Given the description of an element on the screen output the (x, y) to click on. 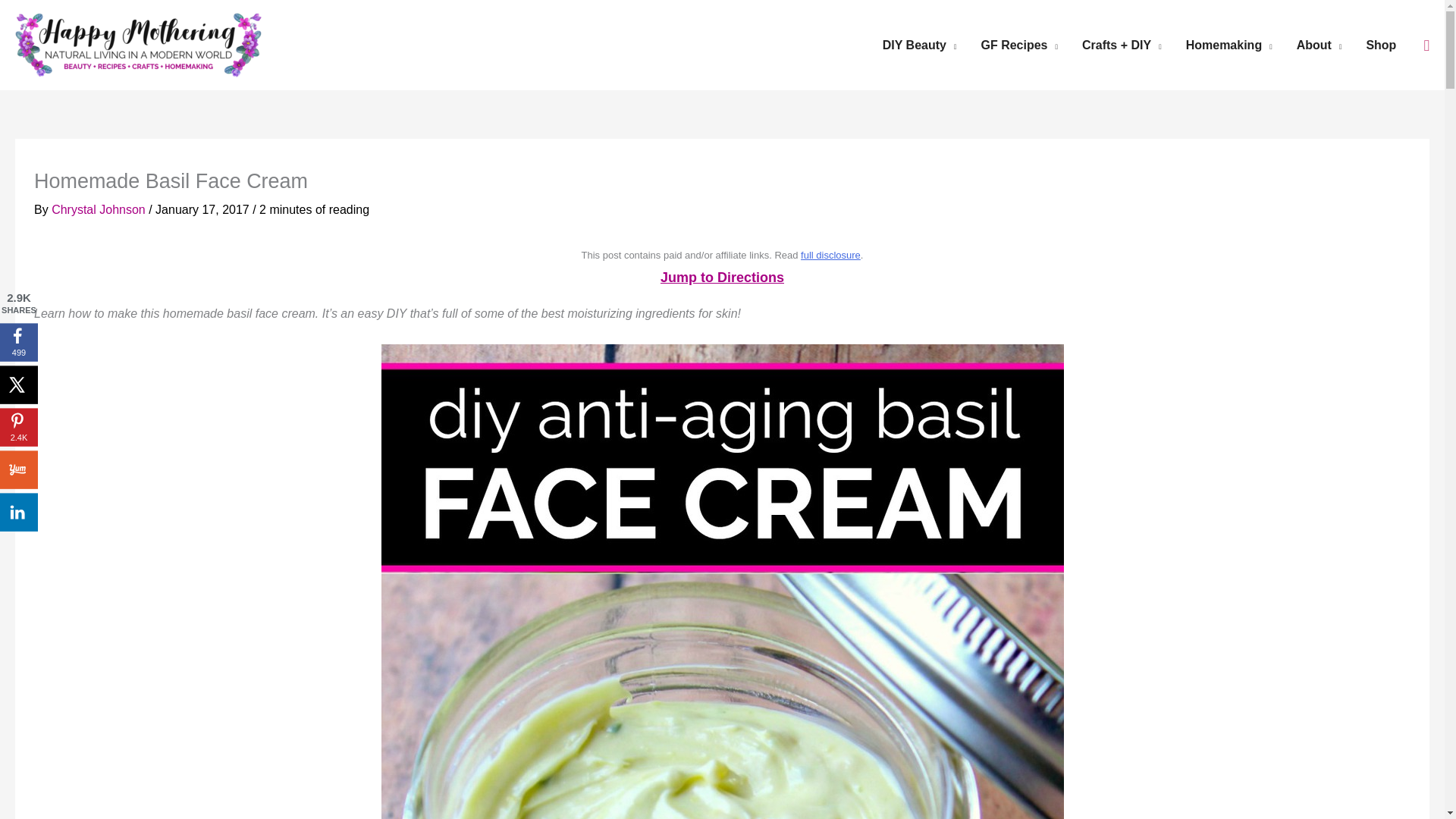
View all posts by Chrystal Johnson (99, 209)
Share on LinkedIn (18, 511)
Share on Facebook (18, 341)
Share on Yummly (18, 469)
Homemaking (1228, 44)
DIY Beauty (919, 44)
Save to Pinterest (18, 426)
GF Recipes (1019, 44)
About (1319, 44)
Jump to Directions (722, 277)
Share on X (18, 384)
